Given the description of an element on the screen output the (x, y) to click on. 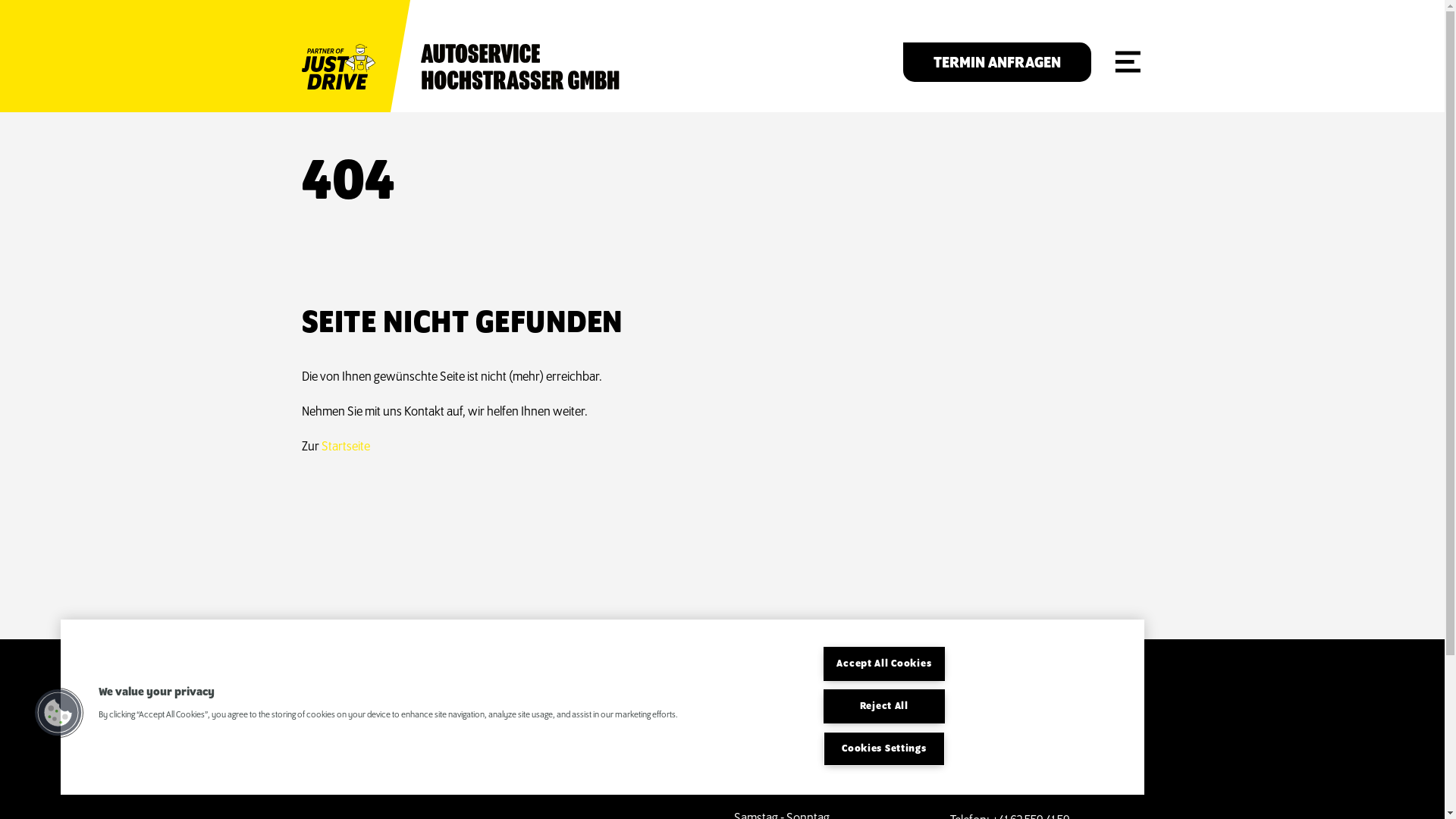
Cookies Settings Element type: text (883, 748)
Reject All Element type: text (883, 706)
TERMIN ANFRAGEN Element type: text (996, 61)
Accept All Cookies Element type: text (883, 663)
Startseite Element type: text (345, 446)
Cookies Button Element type: text (58, 712)
